Given the description of an element on the screen output the (x, y) to click on. 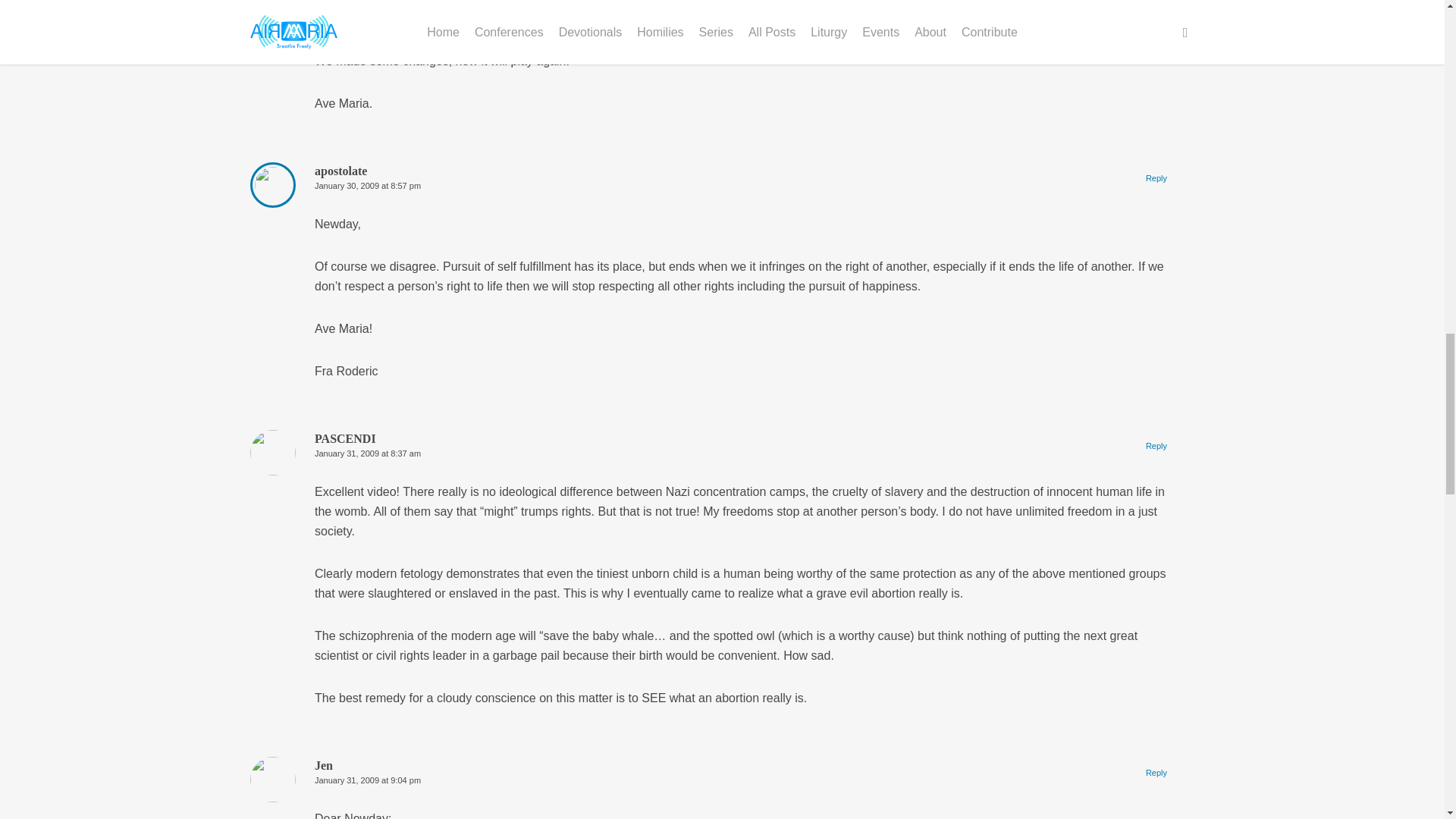
Reply (1156, 15)
January 30, 2009 at 8:57 pm (367, 185)
January 30, 2009 at 5:59 pm (367, 22)
Reply (1156, 178)
January 31, 2009 at 8:37 am (367, 452)
